Given the description of an element on the screen output the (x, y) to click on. 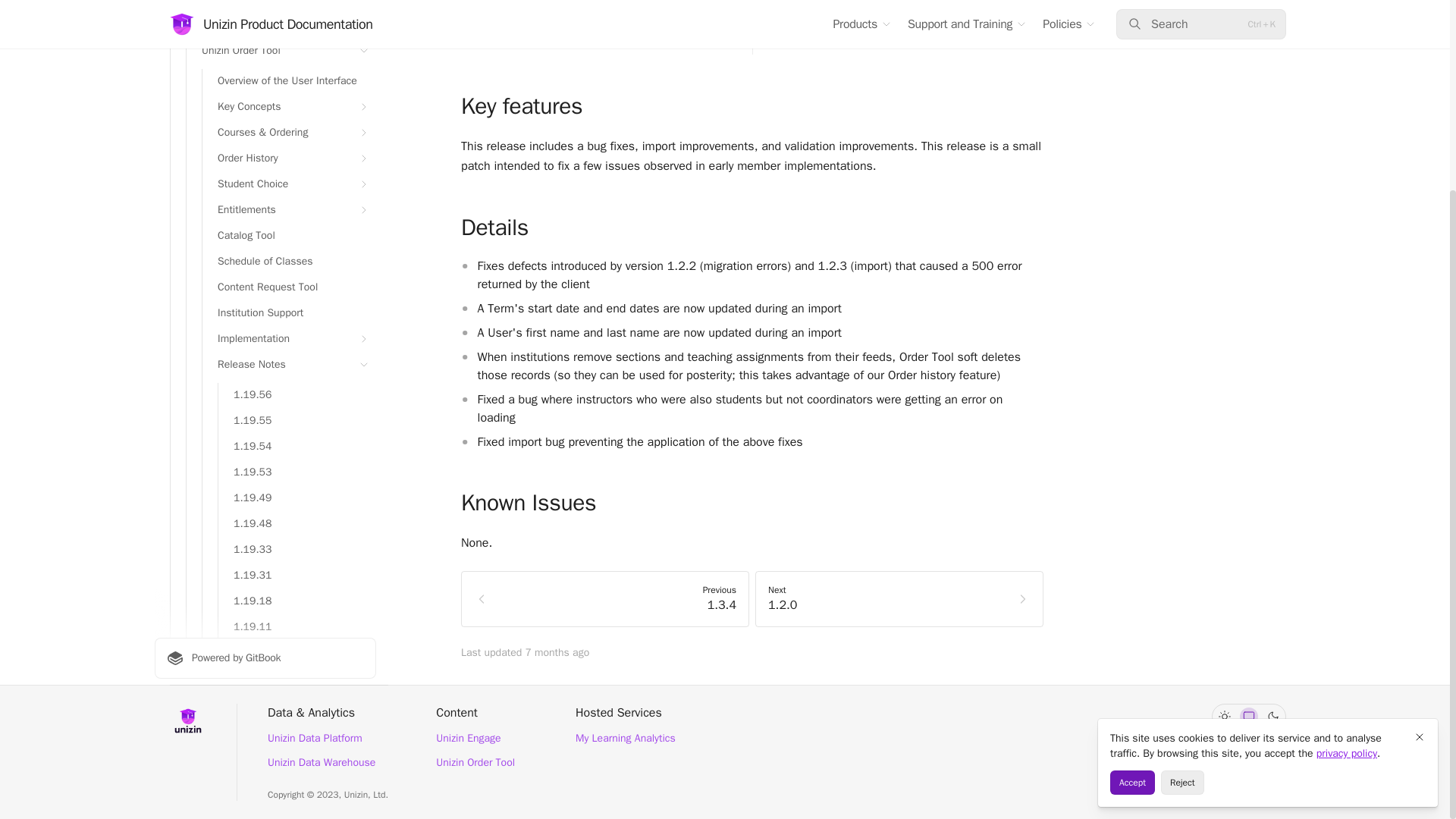
Close (1419, 488)
